Given the description of an element on the screen output the (x, y) to click on. 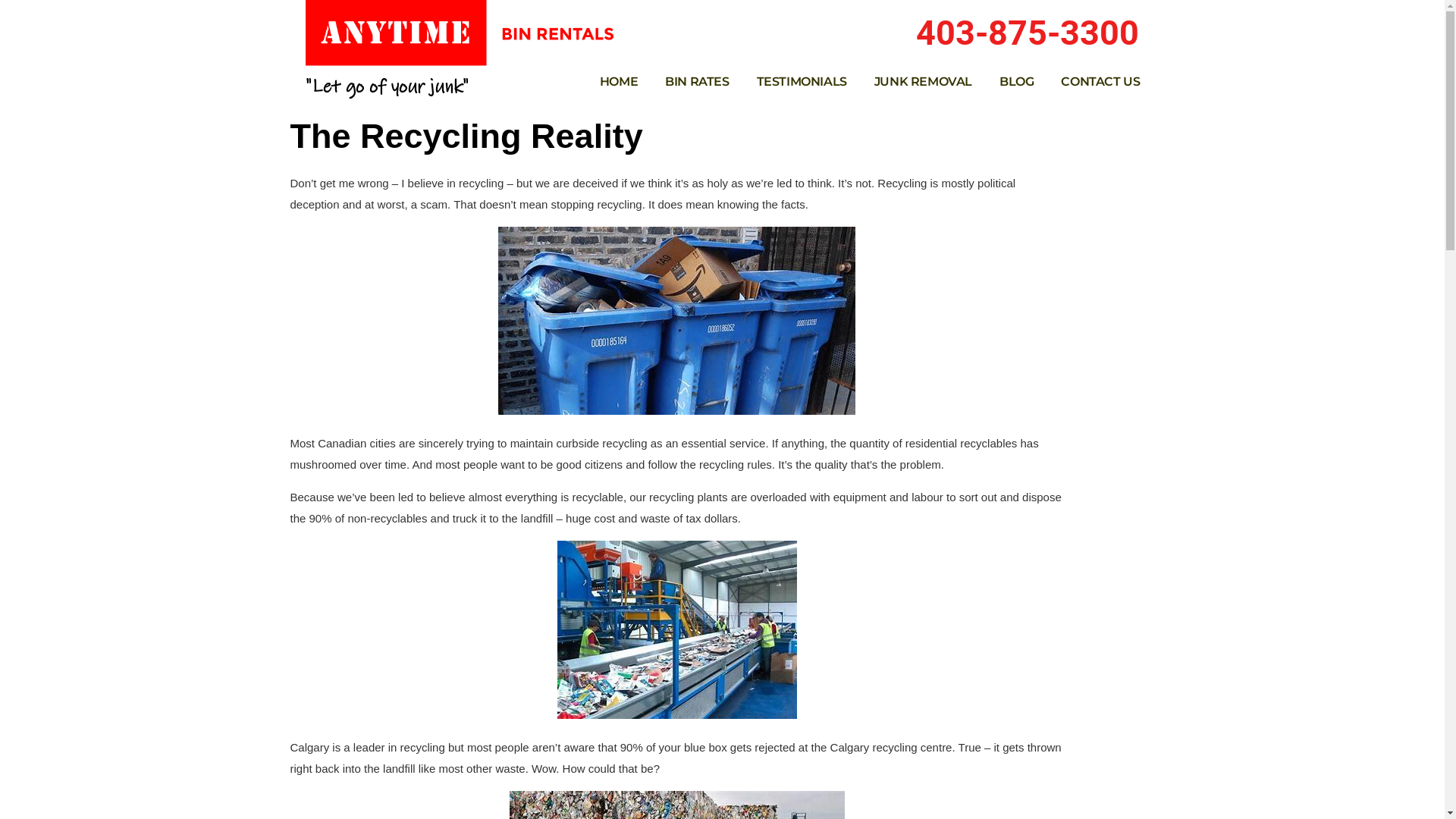
TESTIMONIALS Element type: text (801, 81)
CONTACT US Element type: text (1100, 81)
JUNK REMOVAL Element type: text (923, 81)
BLOG Element type: text (1016, 81)
HOME Element type: text (618, 81)
BIN RATES Element type: text (696, 81)
403-875-3300 Element type: text (1027, 32)
